Given the description of an element on the screen output the (x, y) to click on. 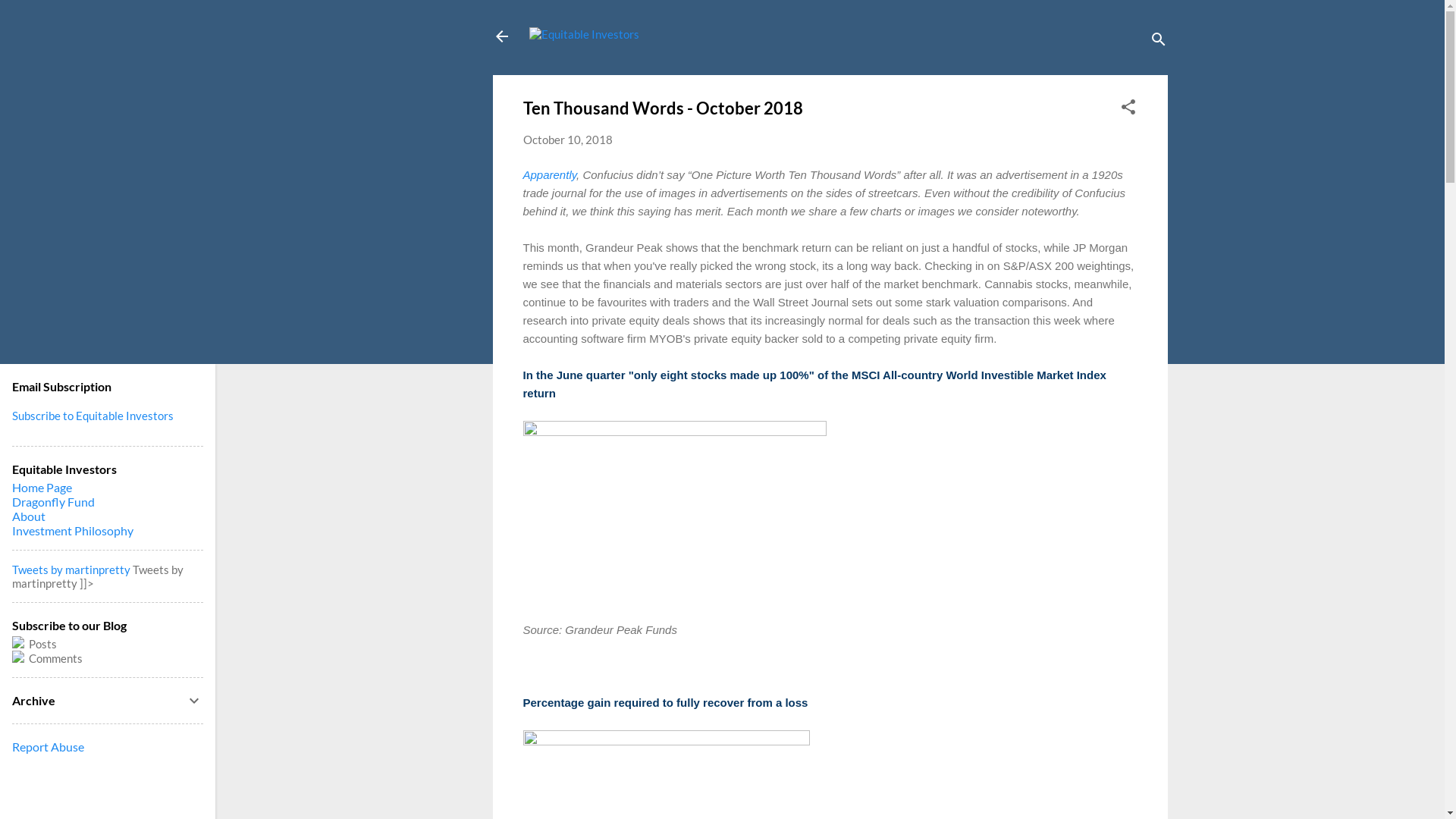
Tweets by martinpretty Element type: text (71, 569)
Subscribe to Equitable Investors Element type: text (92, 415)
Home Page Element type: text (42, 487)
Posts Element type: text (41, 643)
Investment Philosophy Element type: text (72, 530)
Search Element type: text (28, 18)
Comments Element type: text (107, 657)
Dragonfly Fund Element type: text (53, 501)
About Element type: text (28, 515)
Report Abuse Element type: text (48, 746)
October 10, 2018 Element type: text (567, 139)
Posts Element type: text (107, 643)
Comments Element type: text (54, 658)
Apparently Element type: text (550, 174)
